Given the description of an element on the screen output the (x, y) to click on. 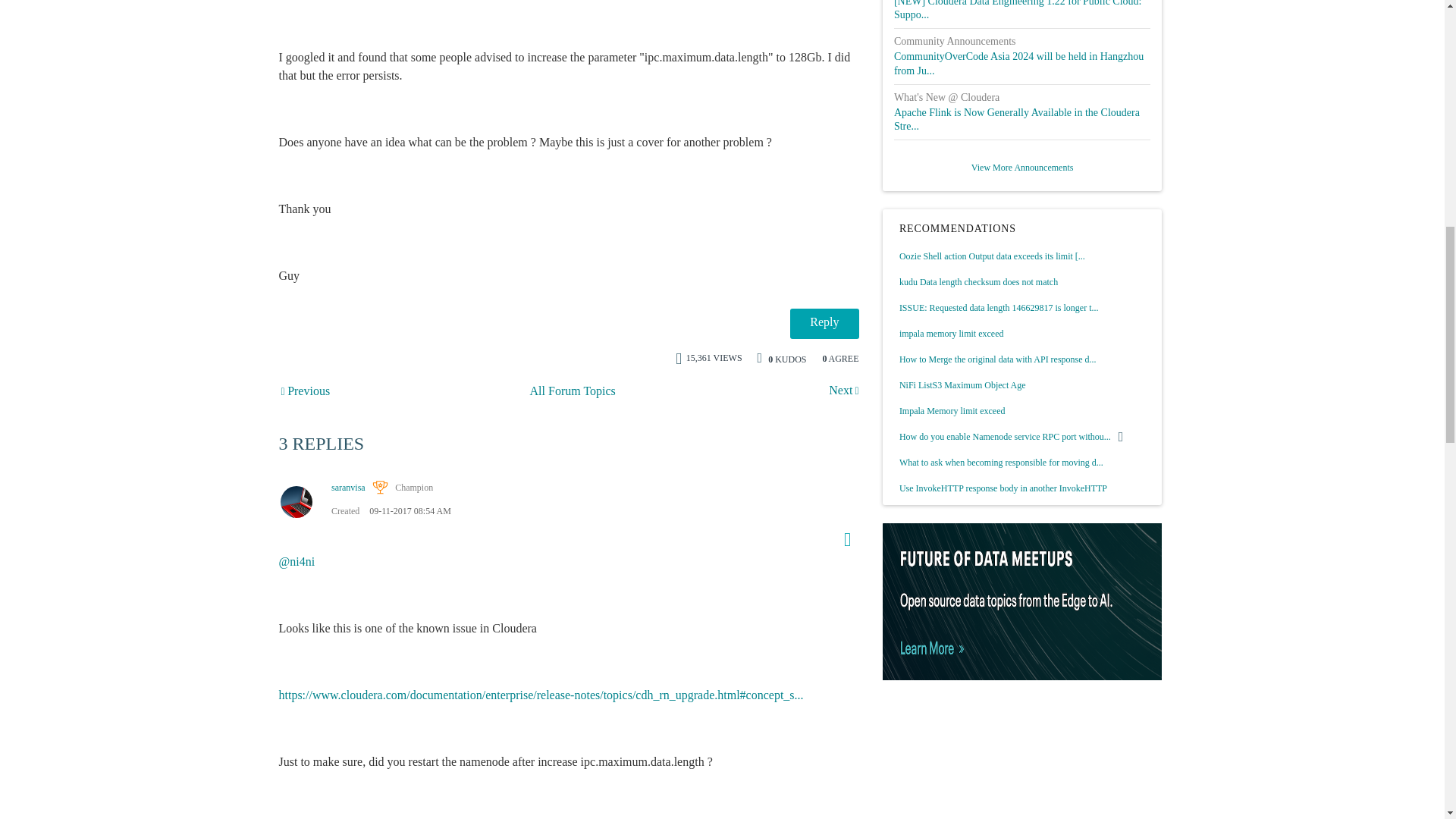
Multiple GETHTMLElement (306, 391)
The total number of kudos this post has received. (787, 357)
Support Questions (572, 391)
